Given the description of an element on the screen output the (x, y) to click on. 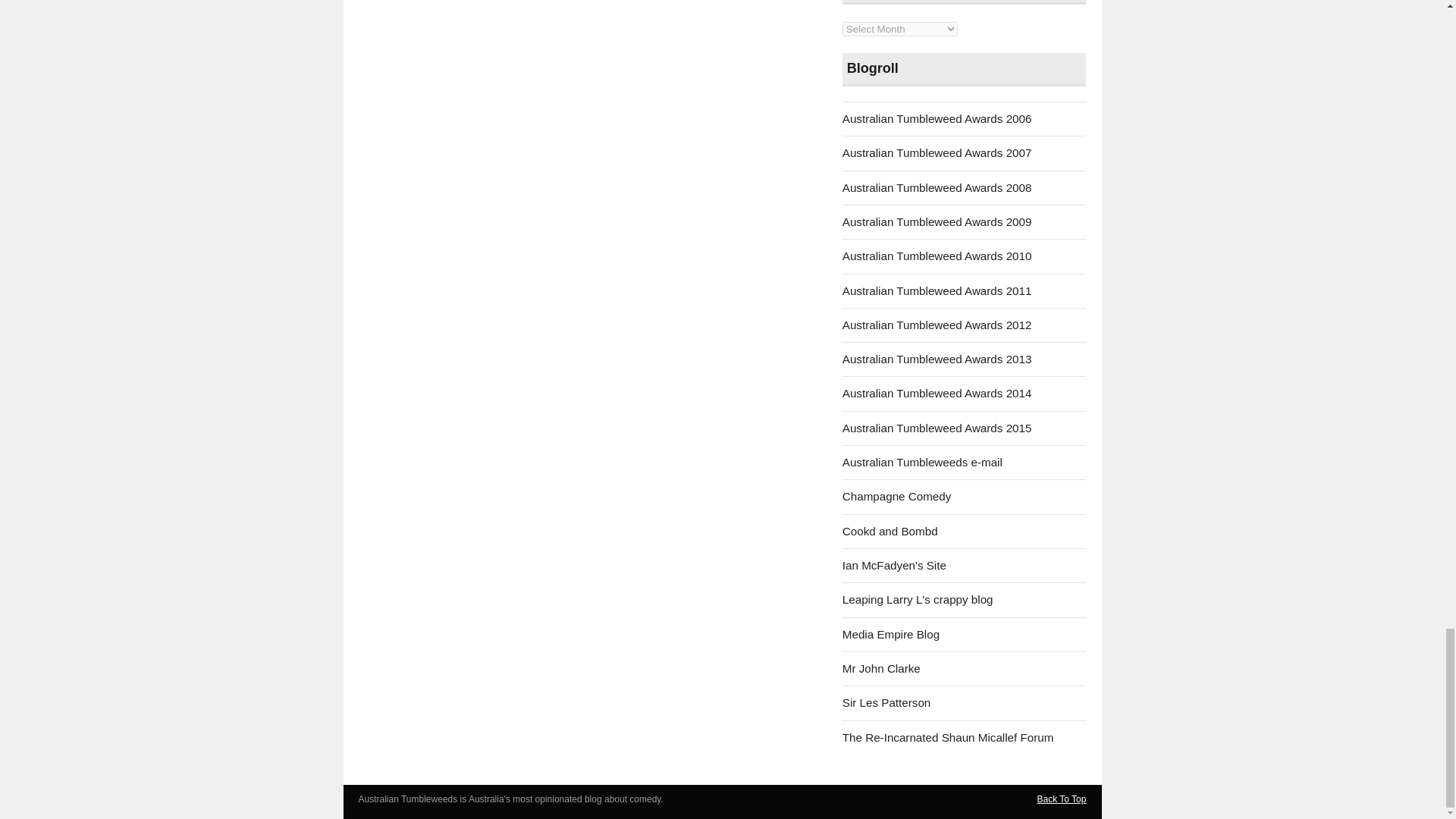
Sadly obvious (894, 564)
Back To Top (1061, 798)
GNW jokes (891, 634)
Australian Tumbleweed Awards 2014 (937, 392)
